Given the description of an element on the screen output the (x, y) to click on. 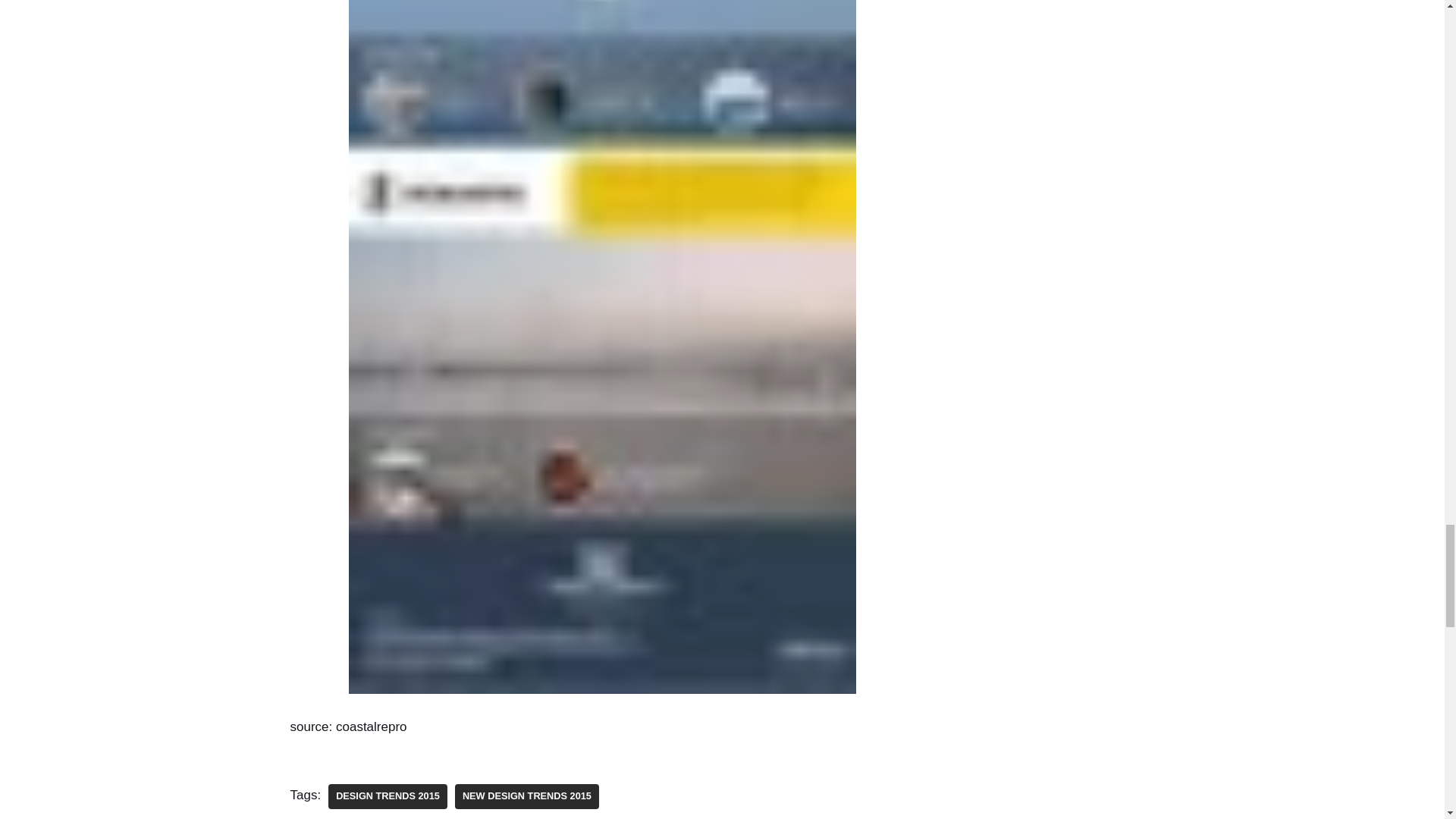
NEW DESIGN TRENDS 2015 (526, 796)
Design Trends 2015 (387, 796)
DESIGN TRENDS 2015 (387, 796)
new Design Trends 2015 (526, 796)
